Given the description of an element on the screen output the (x, y) to click on. 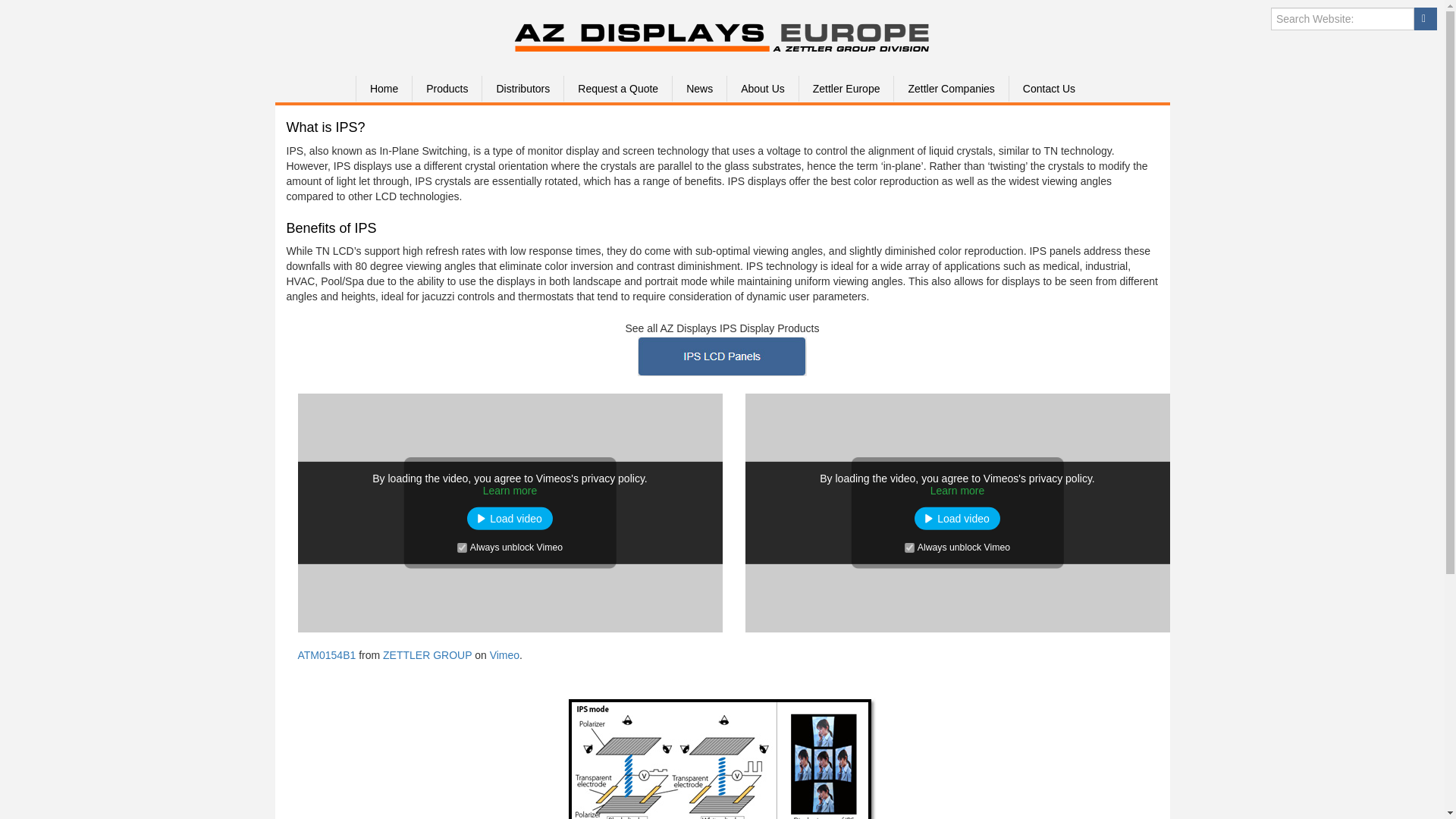
Zettler Europe (845, 88)
Zettler Companies (950, 88)
Products (446, 88)
Learn more (957, 490)
AZ Displays GmbH (722, 51)
ATM0154B1 (326, 654)
Load video (510, 517)
Vimeo (504, 654)
News (698, 88)
About Us (761, 88)
